Given the description of an element on the screen output the (x, y) to click on. 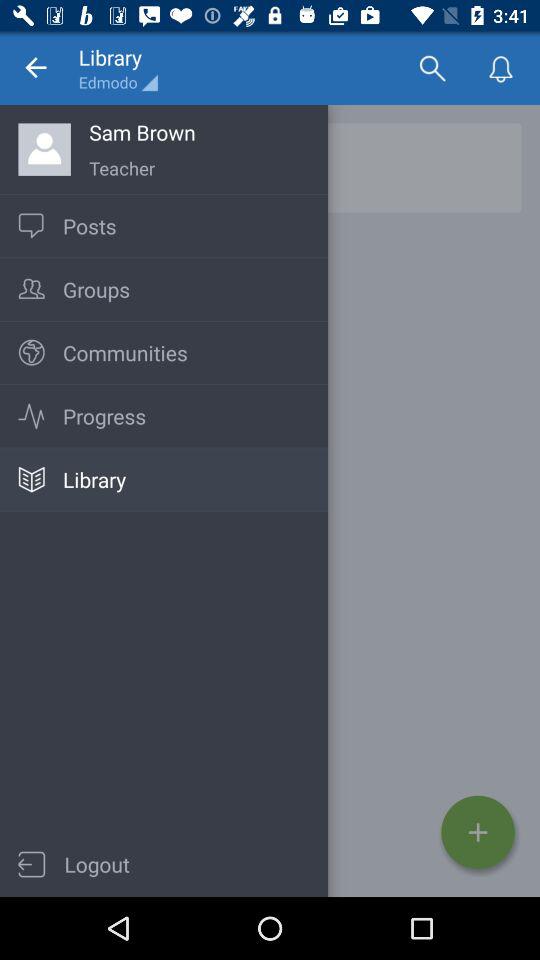
go to the icon right to the search icon (501, 67)
select the icon which is before library (30, 479)
click on user icon which is left hand side of the text sam brown (43, 148)
click on the add icon which is at the bottom right of the page (478, 832)
